Given the description of an element on the screen output the (x, y) to click on. 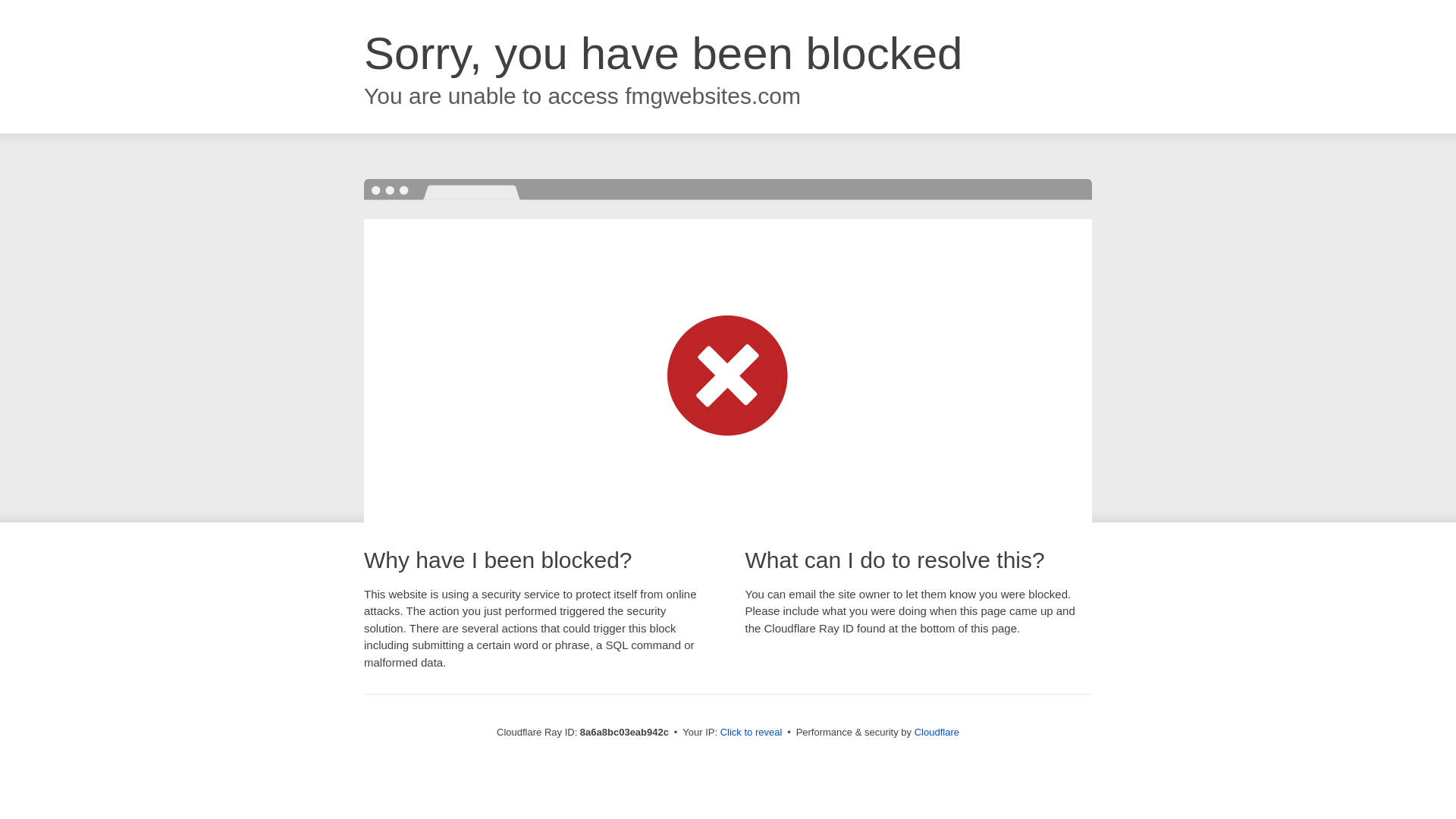
Click to reveal (751, 732)
Cloudflare (936, 731)
